Given the description of an element on the screen output the (x, y) to click on. 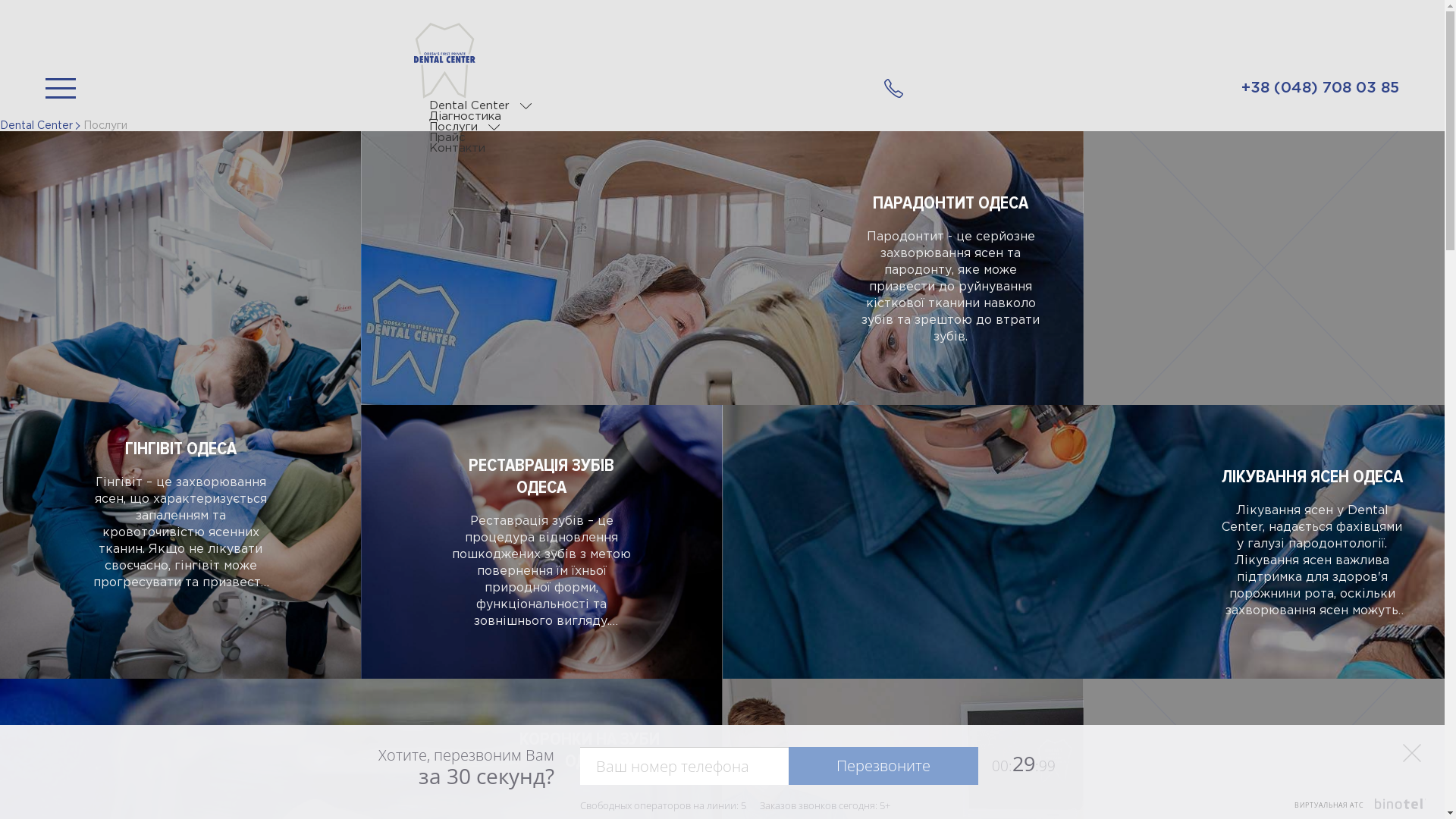
+38 (048) 708 03 85 Element type: text (893, 87)
Dental Center Element type: text (469, 105)
Dental Center Element type: text (36, 125)
+38 (048) 708 03 85 Element type: text (1320, 87)
